Given the description of an element on the screen output the (x, y) to click on. 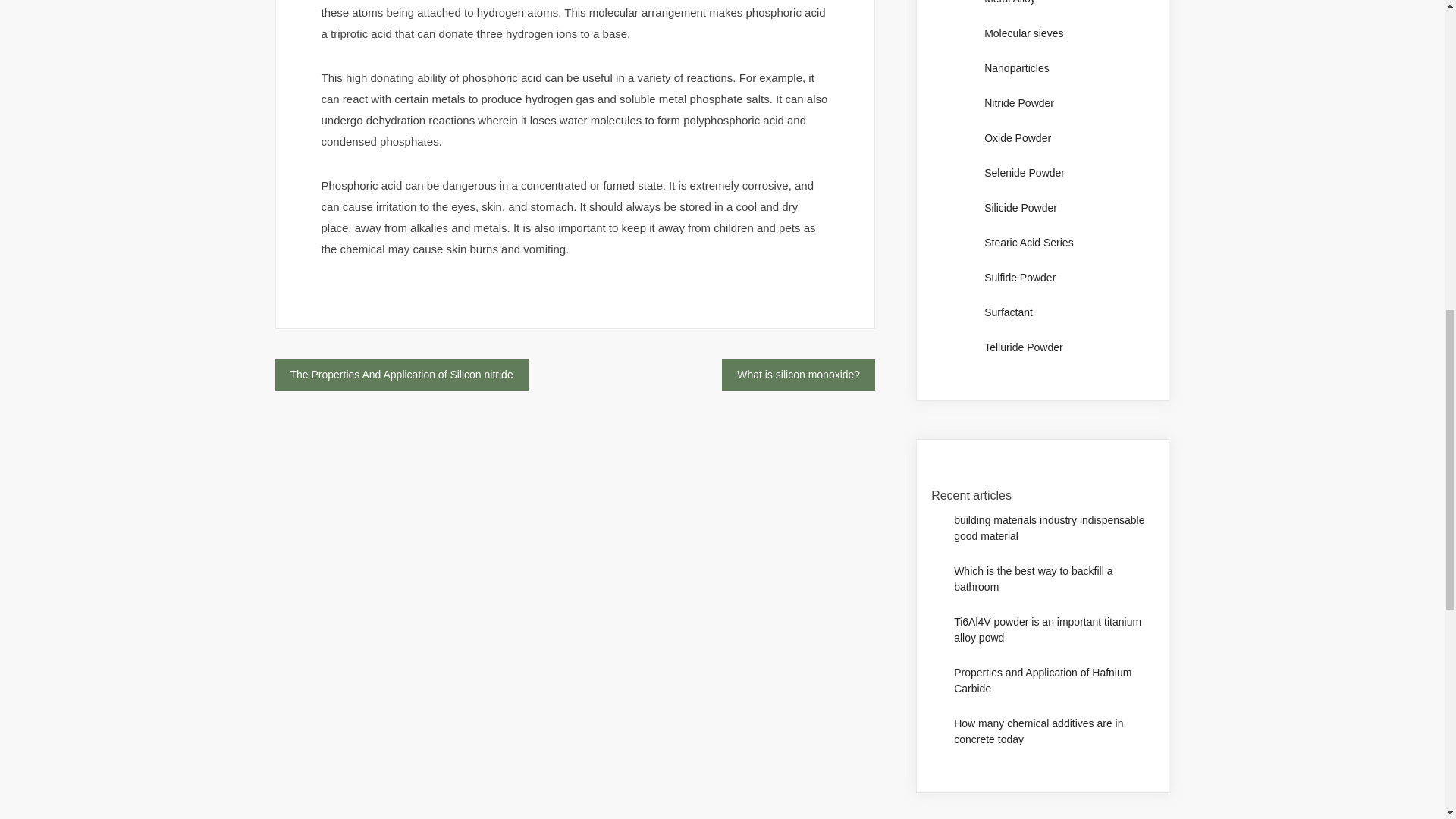
The Properties And Application of Silicon nitride (401, 374)
What is silicon monoxide? (798, 374)
